Given the description of an element on the screen output the (x, y) to click on. 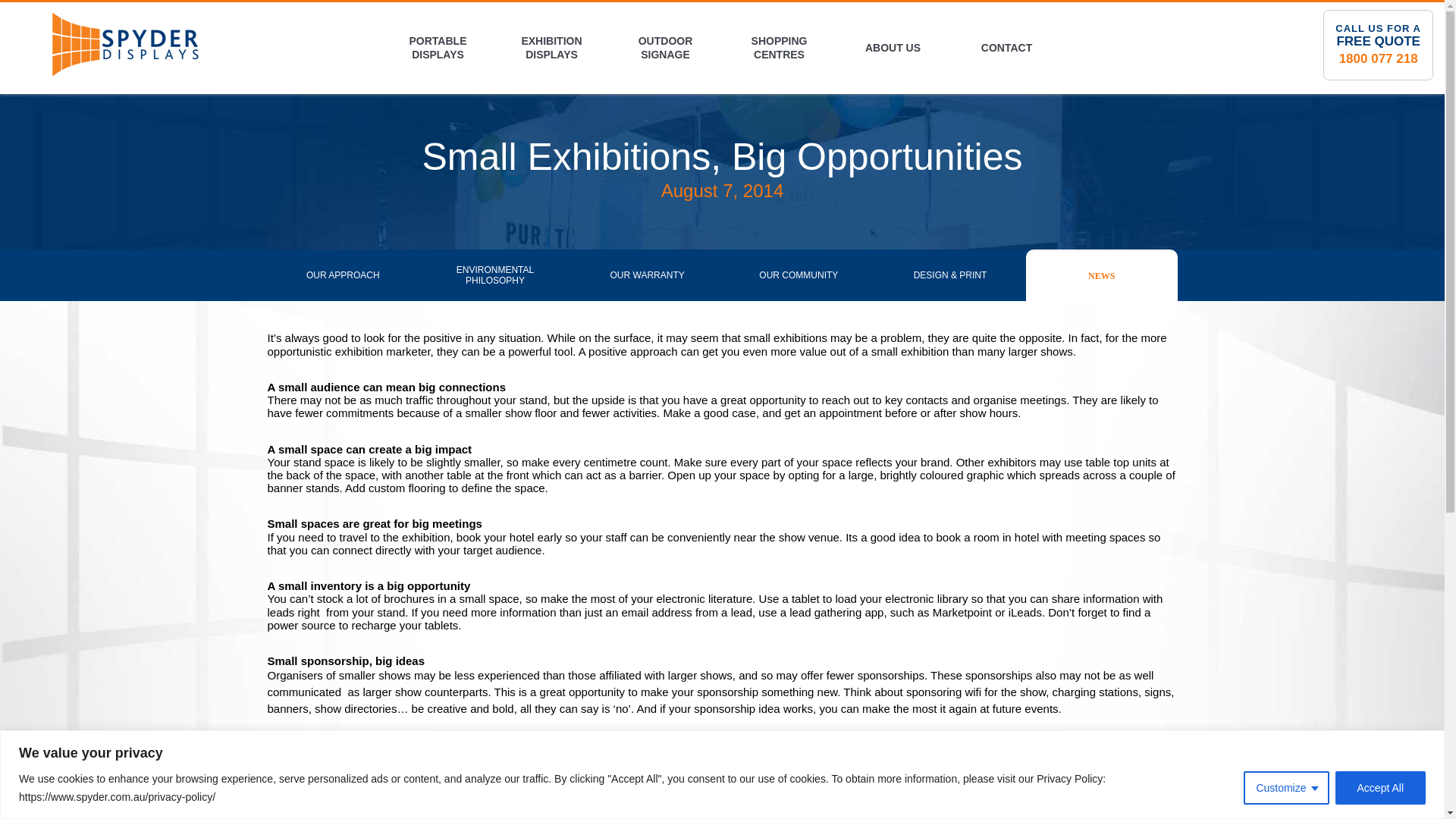
EXHIBITION DISPLAYS (550, 47)
Accept All (1380, 786)
Customize (1285, 786)
PORTABLE DISPLAYS (437, 47)
SHOPPING CENTRES (778, 47)
OUTDOOR SIGNAGE (664, 47)
